Given the description of an element on the screen output the (x, y) to click on. 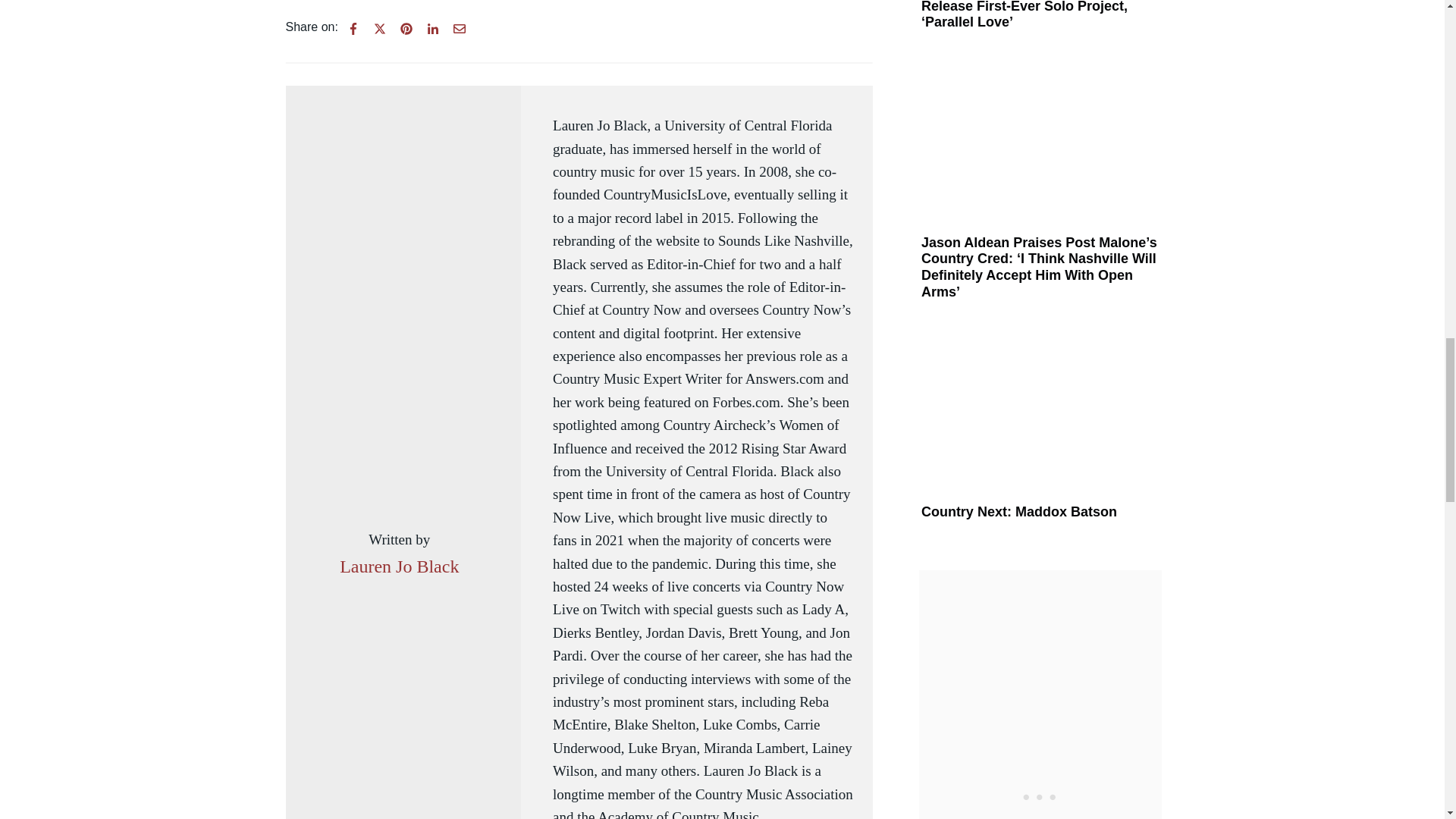
Lauren Jo Black (398, 566)
